Given the description of an element on the screen output the (x, y) to click on. 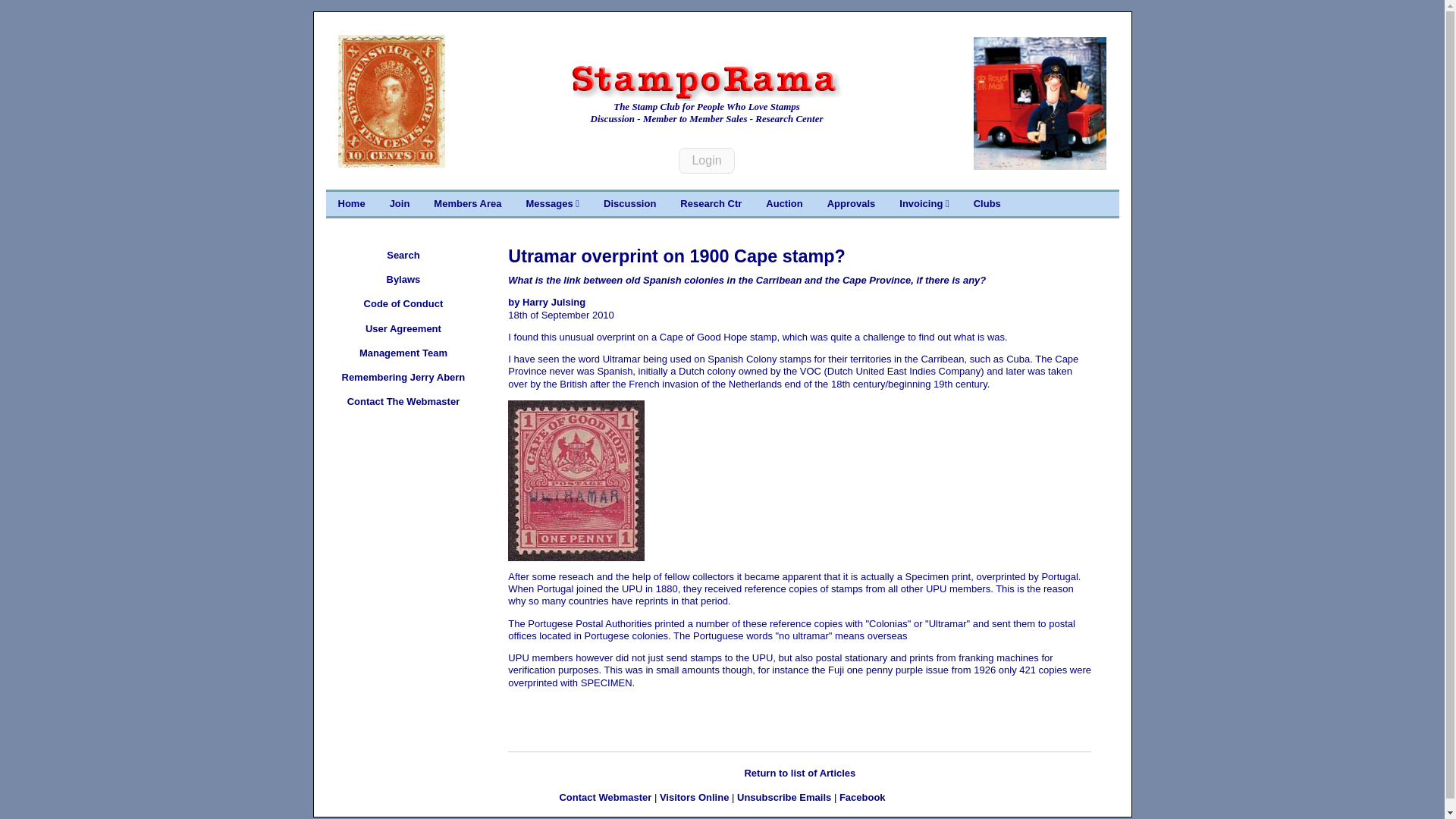
Search (403, 255)
User Agreement (403, 328)
Management Team (403, 353)
Members Area (467, 203)
Code of Conduct (403, 303)
Research Ctr (711, 203)
Home (351, 203)
Contact The Webmaster (403, 401)
Discussion (629, 203)
Contact Webmaster (604, 797)
Bylaws (403, 279)
Login (705, 160)
Messages (552, 203)
Remembering Jerry Abern (403, 377)
Join (399, 203)
